Given the description of an element on the screen output the (x, y) to click on. 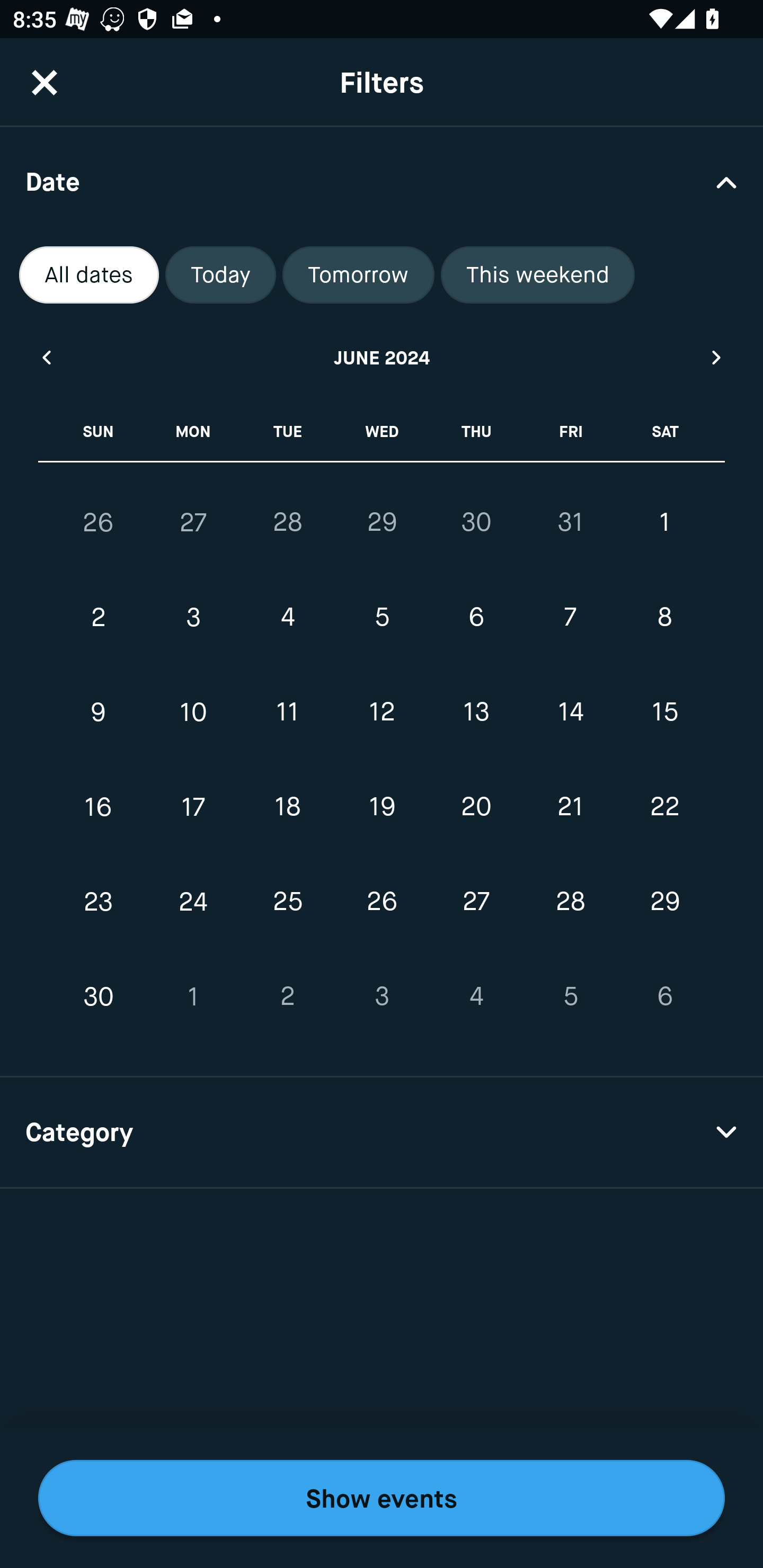
CloseButton (44, 82)
Date Drop Down Arrow (381, 181)
All dates (88, 274)
Today (220, 274)
Tomorrow (358, 274)
This weekend (537, 274)
Previous (45, 357)
Next (717, 357)
26 (98, 522)
27 (192, 522)
28 (287, 522)
29 (381, 522)
30 (475, 522)
31 (570, 522)
1 (664, 522)
2 (98, 617)
3 (192, 617)
4 (287, 617)
5 (381, 617)
6 (475, 617)
7 (570, 617)
8 (664, 617)
9 (98, 711)
10 (192, 711)
11 (287, 711)
12 (381, 711)
13 (475, 711)
14 (570, 711)
15 (664, 711)
16 (98, 806)
17 (192, 806)
18 (287, 806)
19 (381, 806)
20 (475, 806)
21 (570, 806)
22 (664, 806)
23 (98, 901)
24 (192, 901)
25 (287, 901)
26 (381, 901)
27 (475, 901)
28 (570, 901)
29 (664, 901)
30 (98, 996)
1 (192, 996)
2 (287, 996)
3 (381, 996)
4 (475, 996)
5 (570, 996)
6 (664, 996)
